Given the description of an element on the screen output the (x, y) to click on. 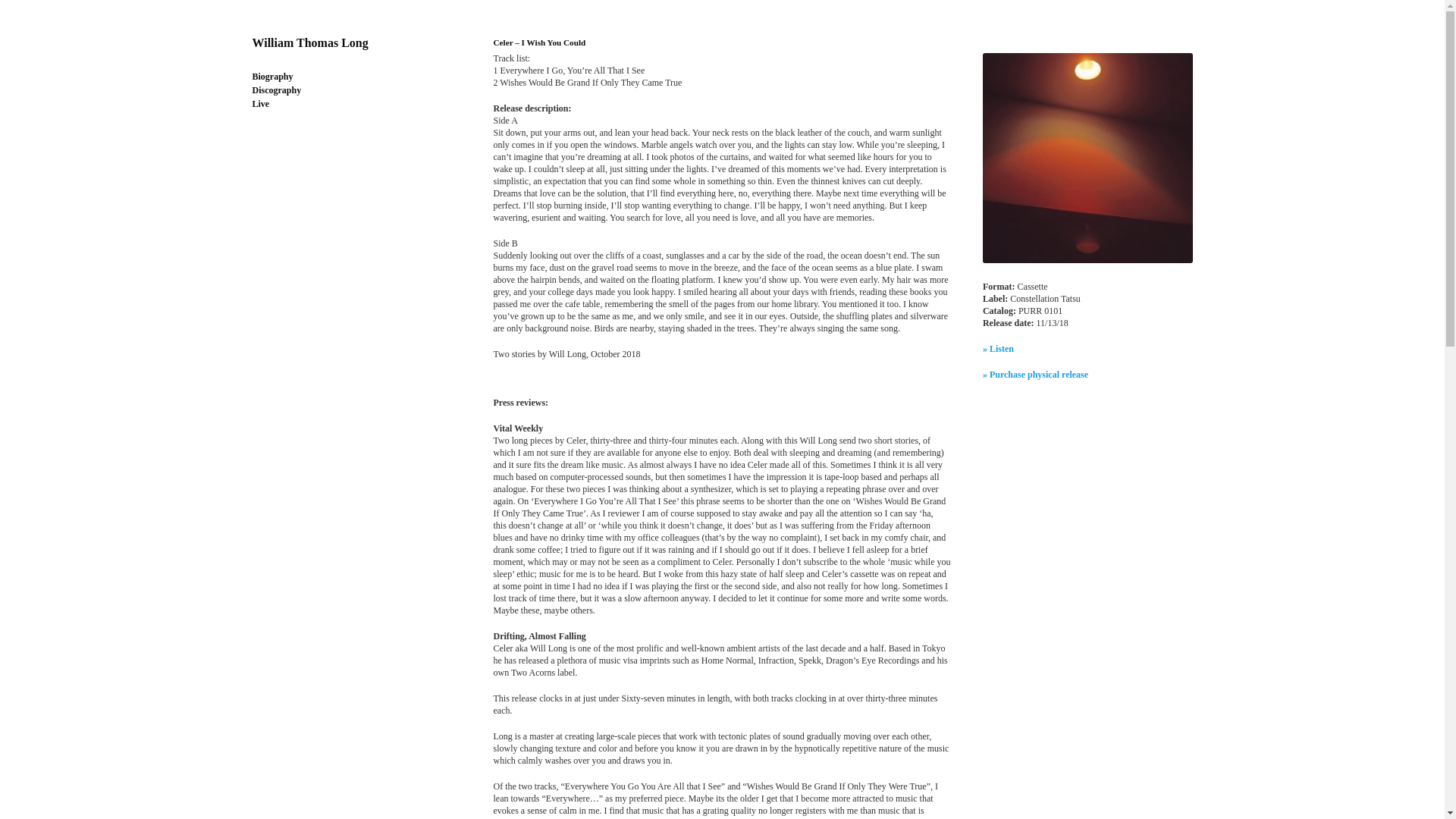
Discography (276, 90)
Live (260, 103)
William Thomas Long (309, 42)
Biography (271, 76)
